Given the description of an element on the screen output the (x, y) to click on. 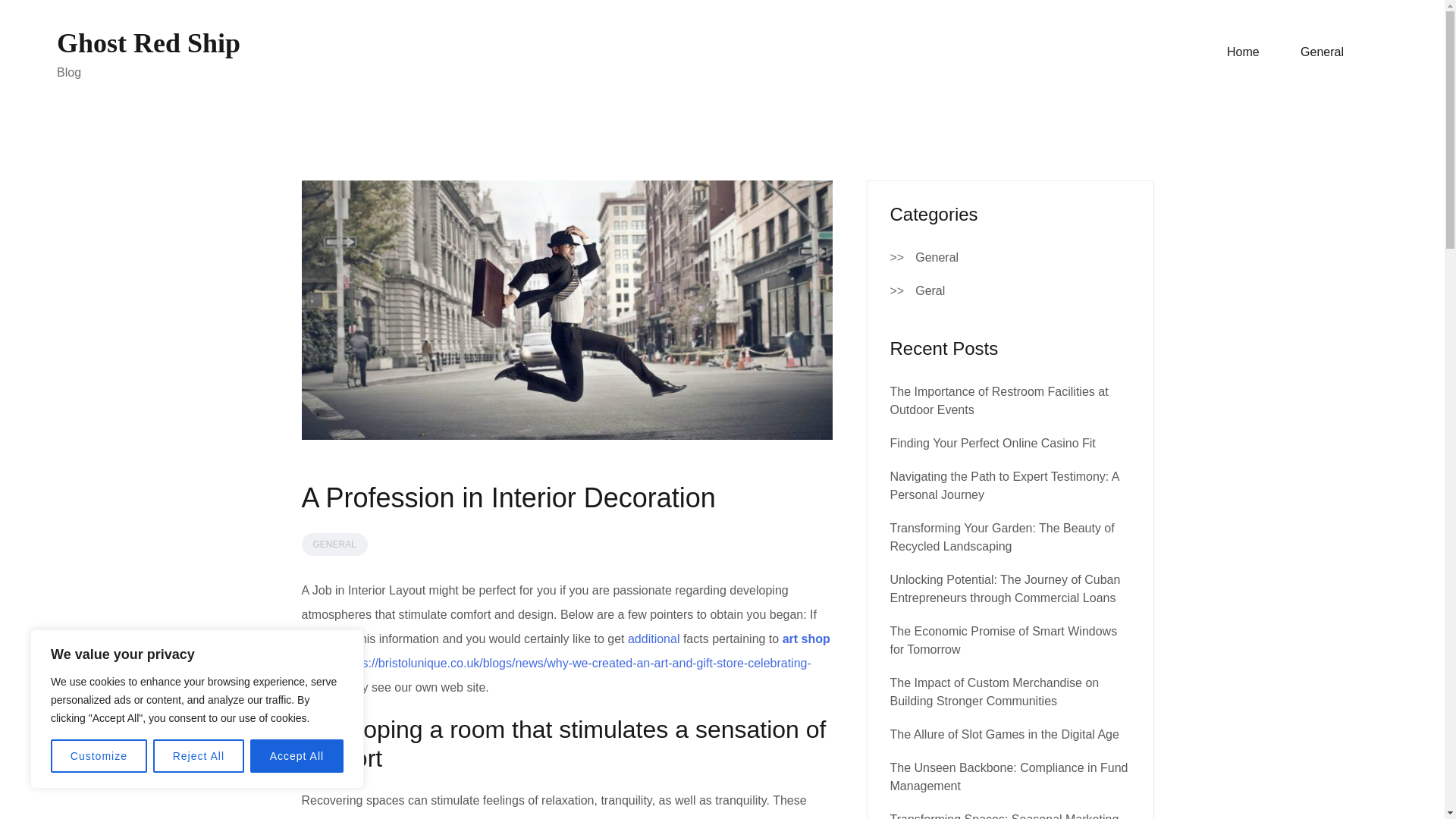
Navigating the Path to Expert Testimony: A Personal Journey (1004, 485)
Customize (98, 756)
The Economic Promise of Smart Windows for Tomorrow (1003, 640)
Ghost Red Ship (148, 42)
General (936, 257)
additional (653, 638)
Geral (929, 290)
Home (1243, 52)
Accept All (296, 756)
